Given the description of an element on the screen output the (x, y) to click on. 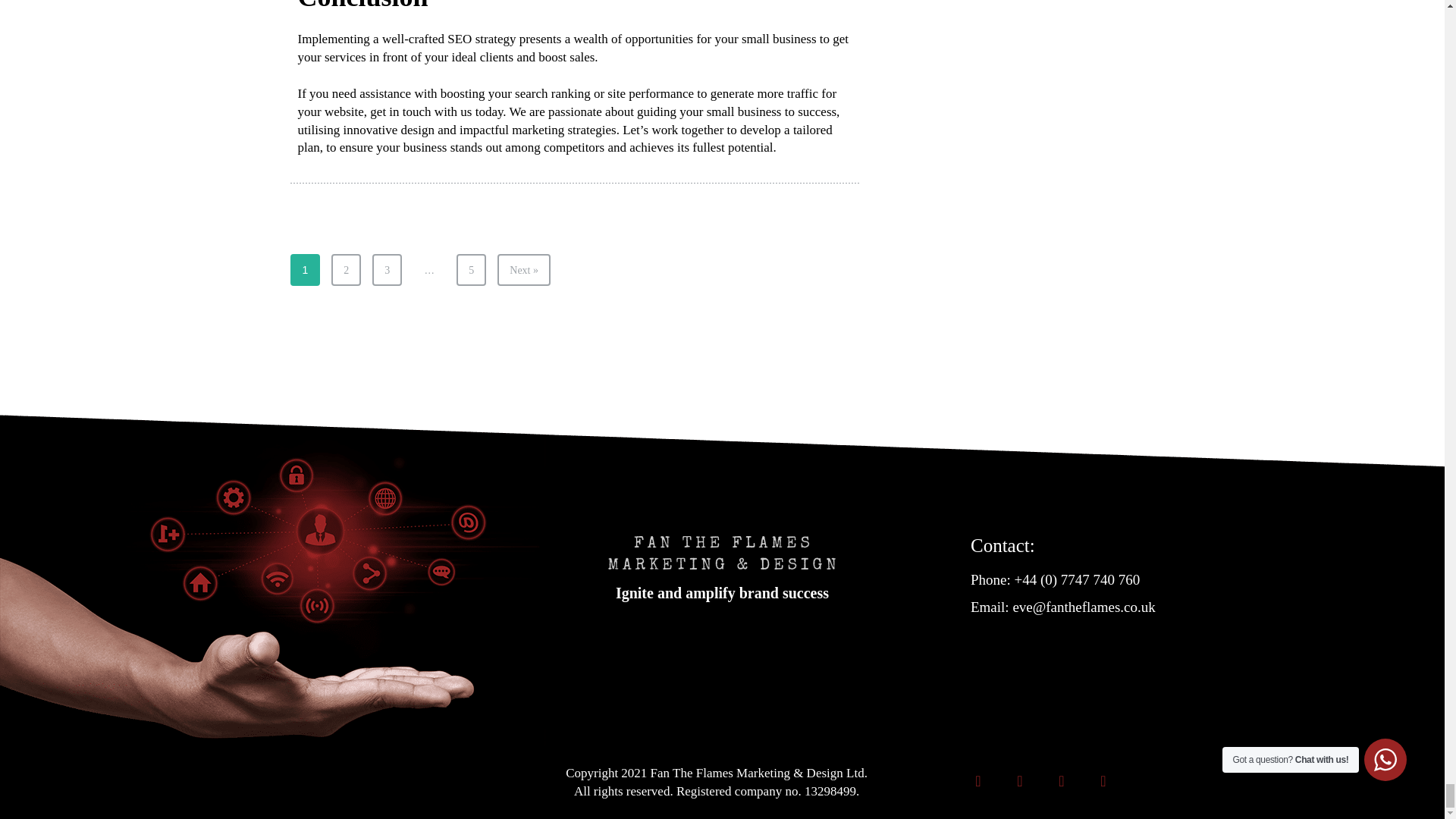
logo min min (721, 552)
